Given the description of an element on the screen output the (x, y) to click on. 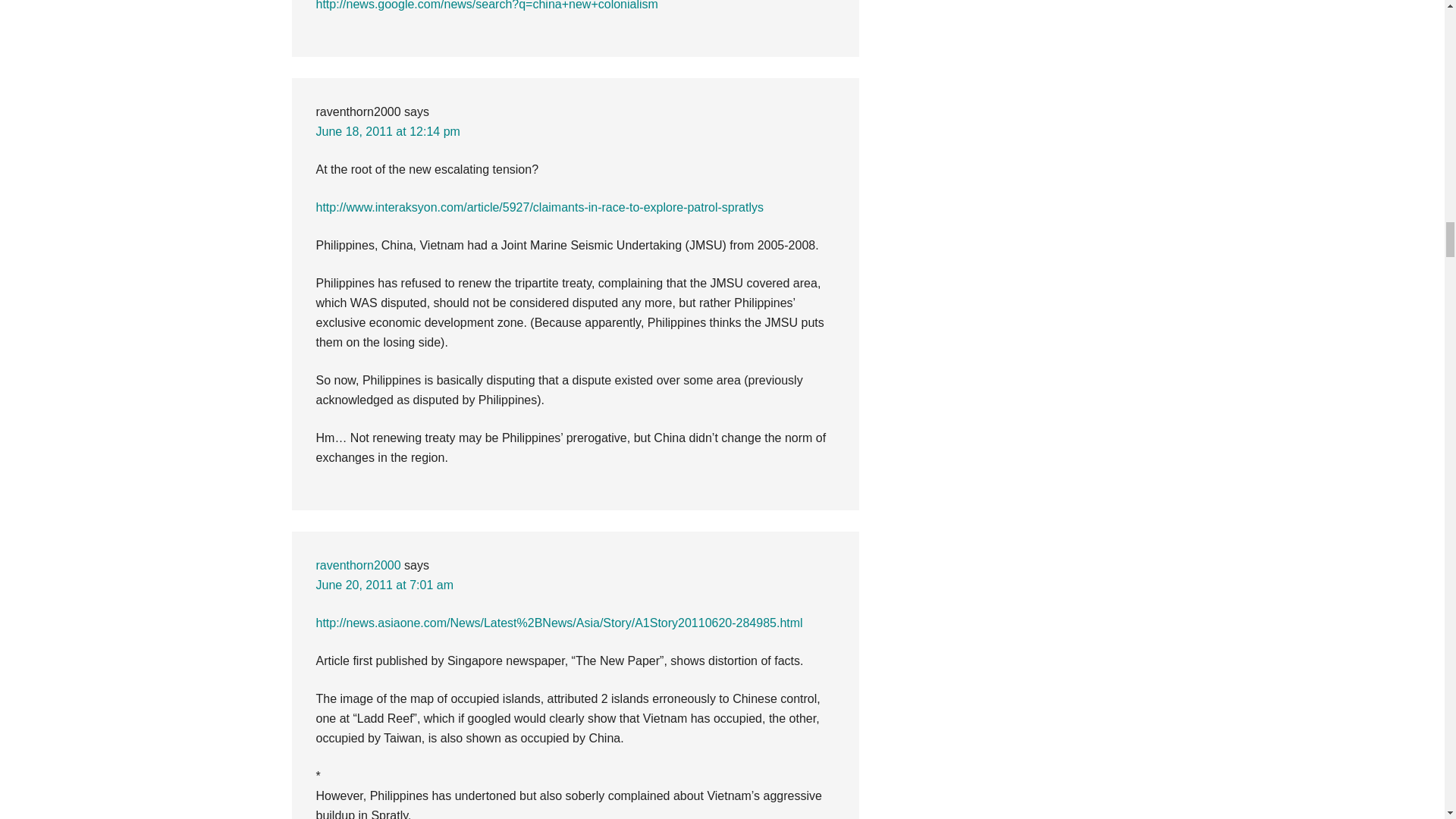
June 20, 2011 at 7:01 am (383, 584)
raventhorn2000 (357, 564)
June 18, 2011 at 12:14 pm (387, 131)
